Given the description of an element on the screen output the (x, y) to click on. 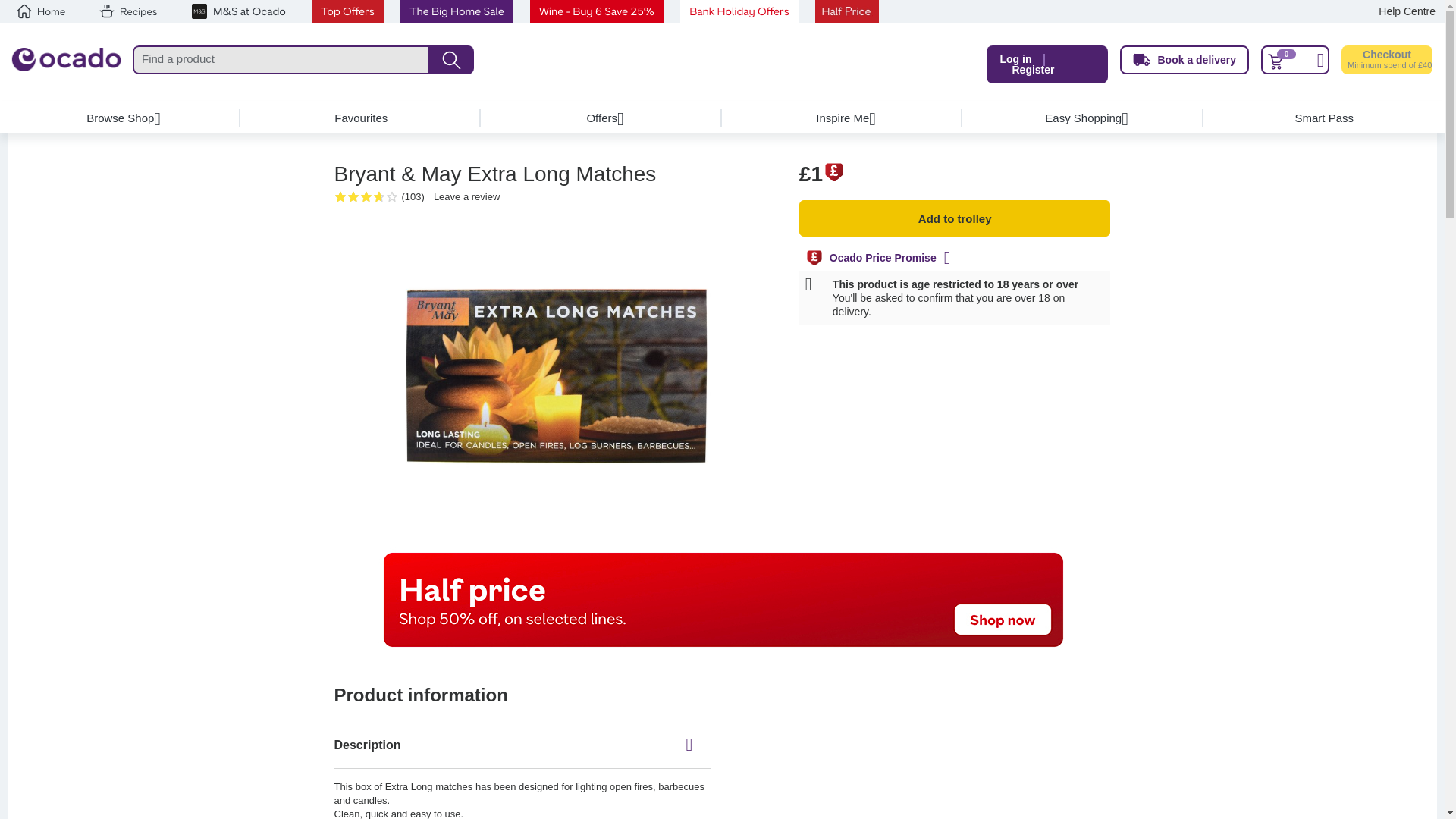
Half Price (847, 11)
Help Centre (1406, 10)
Home (66, 64)
Inspire Me (842, 118)
Easy Shopping (1083, 118)
Reviews 3.6 of 5 (356, 196)
Description (521, 744)
0 (1294, 59)
Bank Holiday Offers (738, 11)
Home (41, 11)
